Given the description of an element on the screen output the (x, y) to click on. 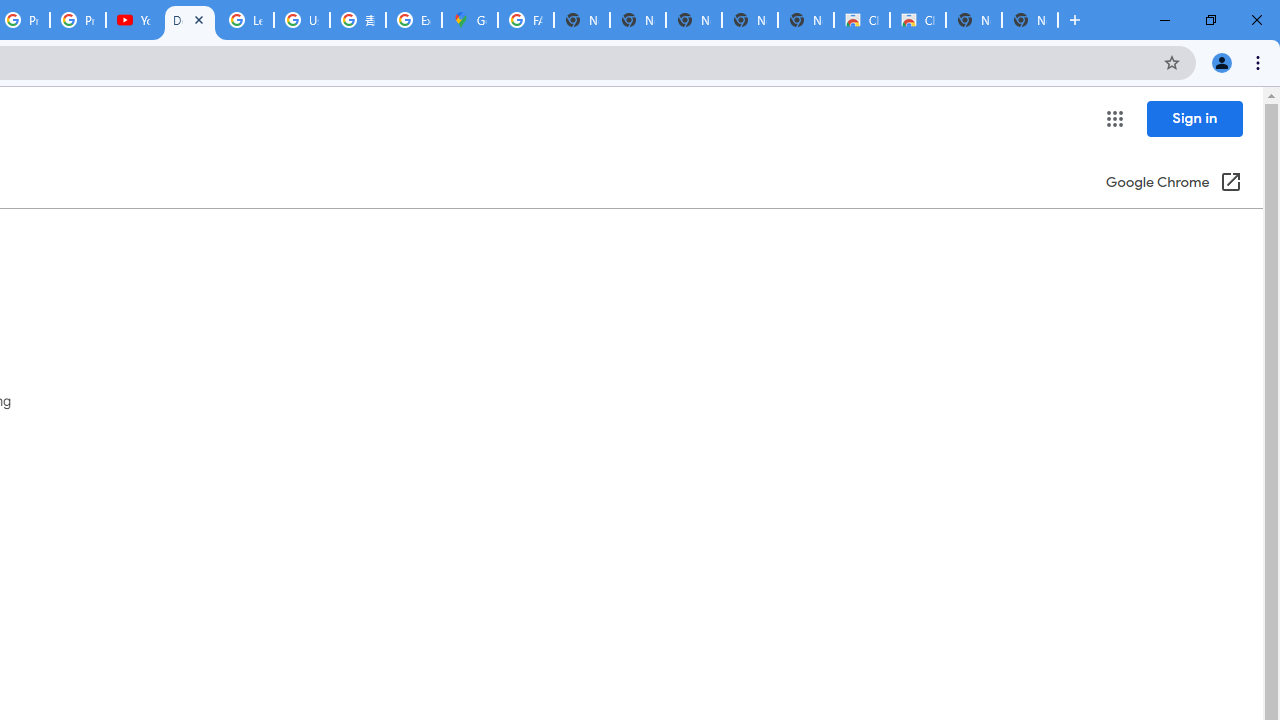
Explore new street-level details - Google Maps Help (413, 20)
Google Chrome (Open in a new window) (1173, 183)
